Given the description of an element on the screen output the (x, y) to click on. 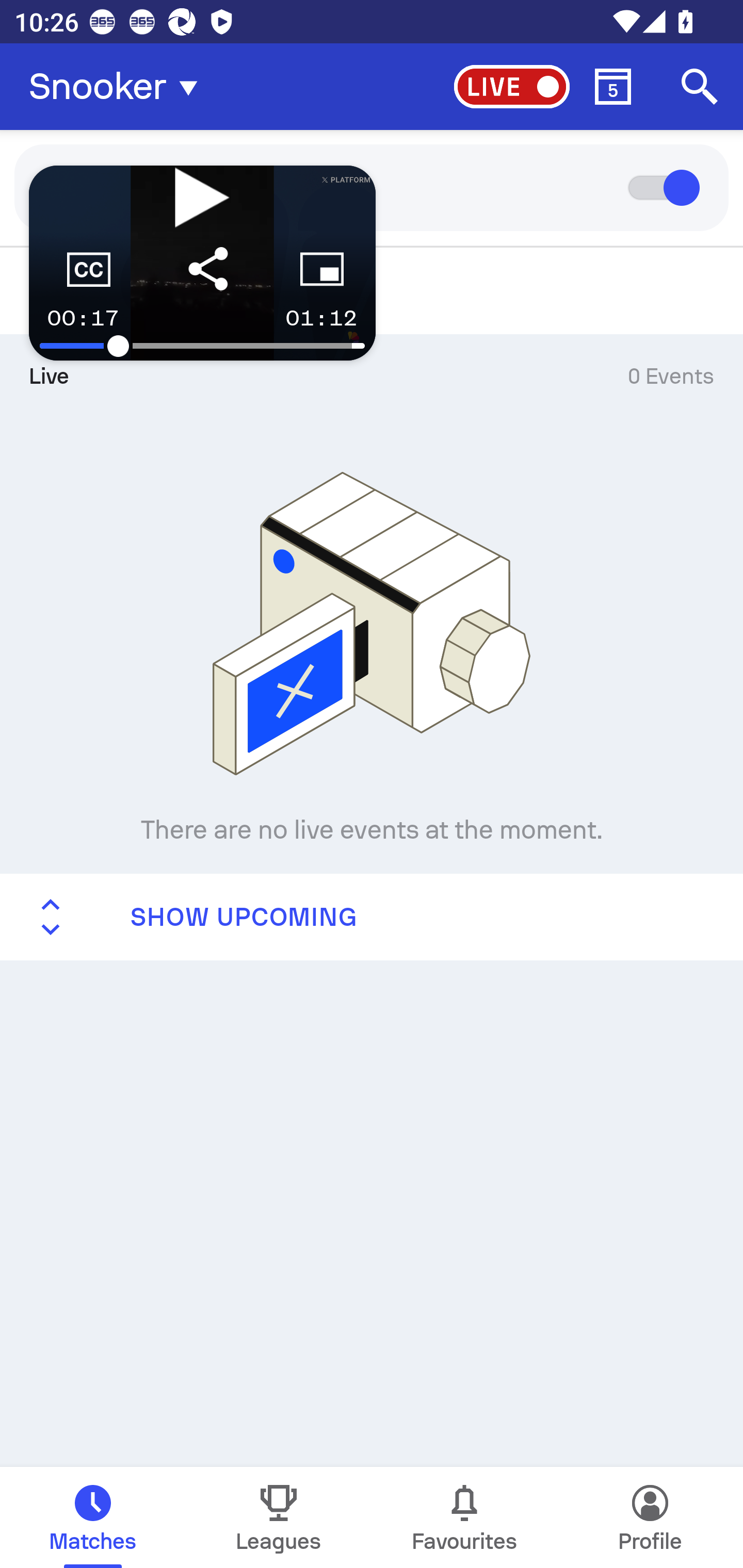
Snooker (118, 86)
Calendar (612, 86)
Search (699, 86)
SHOW UPCOMING (371, 916)
Leagues (278, 1517)
Favourites (464, 1517)
Profile (650, 1517)
